Given the description of an element on the screen output the (x, y) to click on. 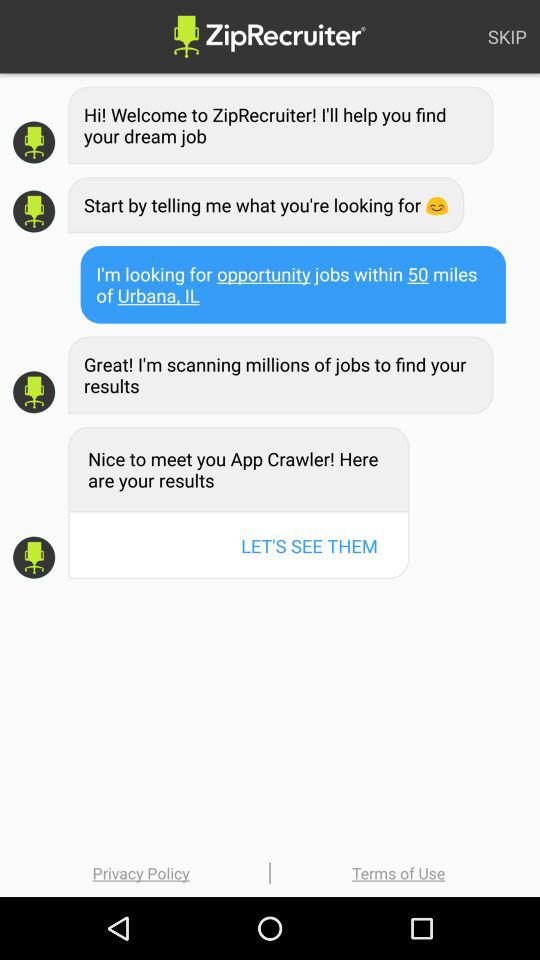
launch skip item (507, 36)
